Given the description of an element on the screen output the (x, y) to click on. 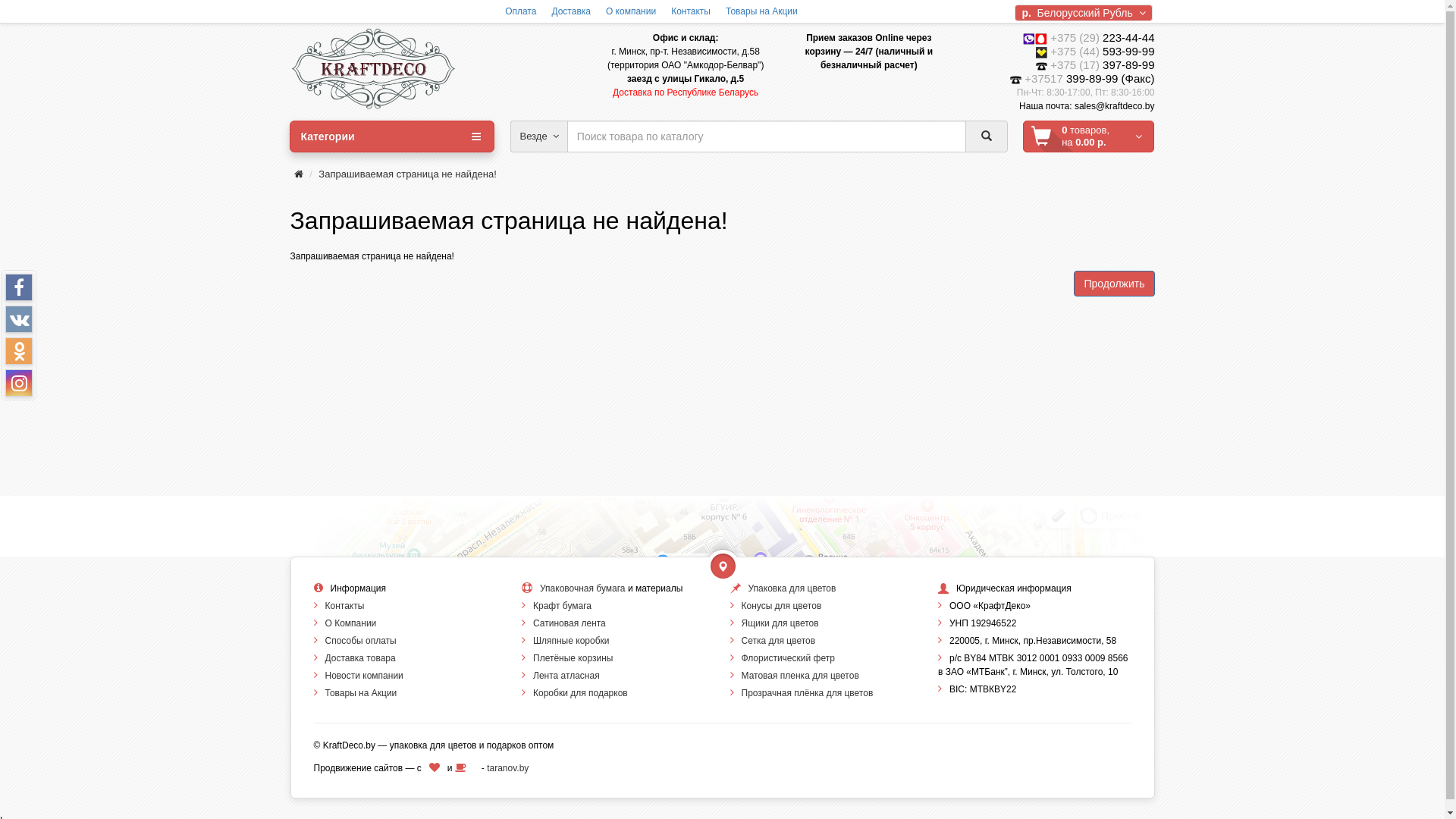
taranov.by Element type: text (507, 767)
